Given the description of an element on the screen output the (x, y) to click on. 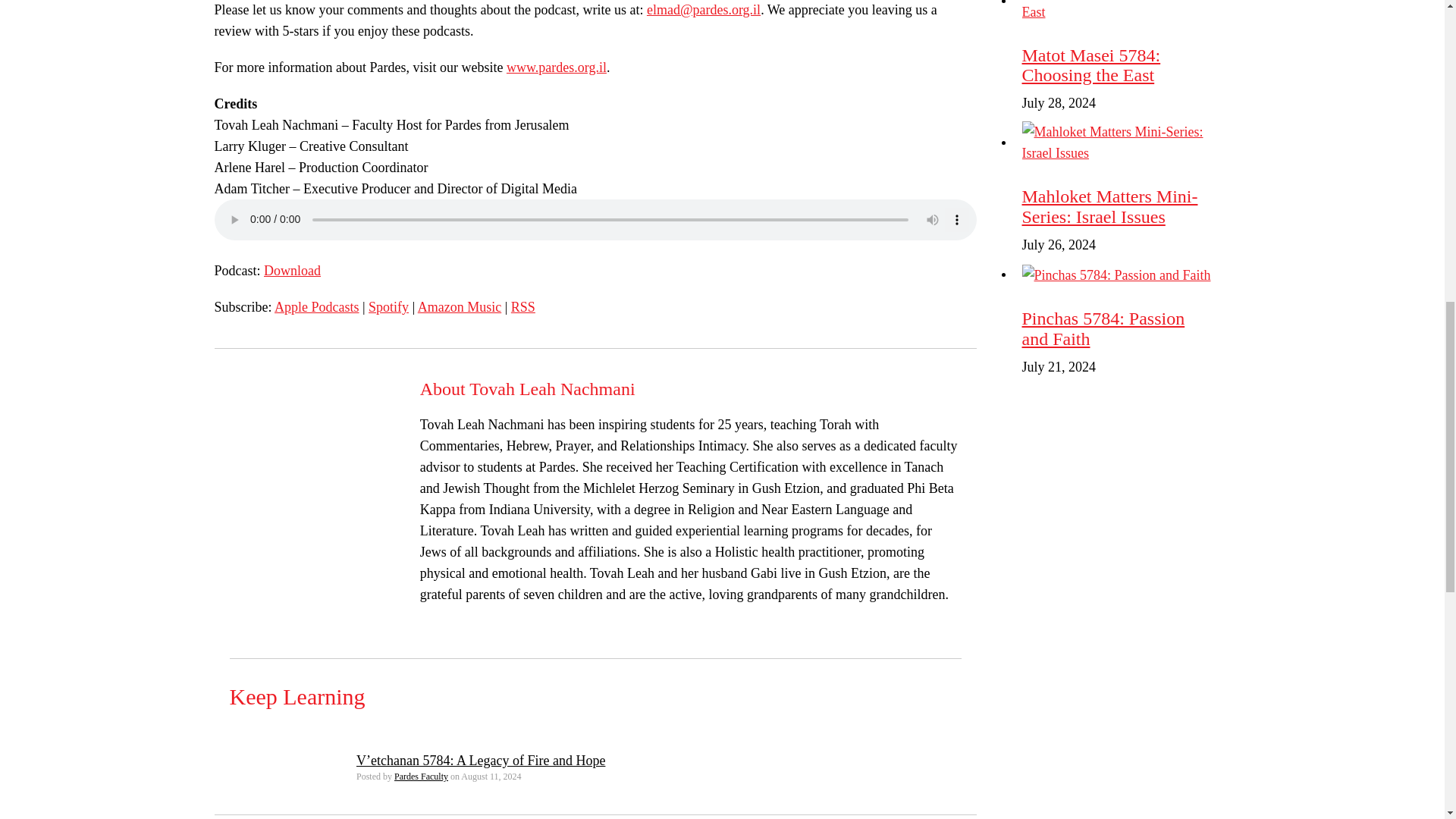
Subscribe on Spotify (388, 306)
Subscribe on Apple Podcasts (317, 306)
Download (291, 270)
Subscribe via RSS (523, 306)
Subscribe on Amazon Music (458, 306)
